Given the description of an element on the screen output the (x, y) to click on. 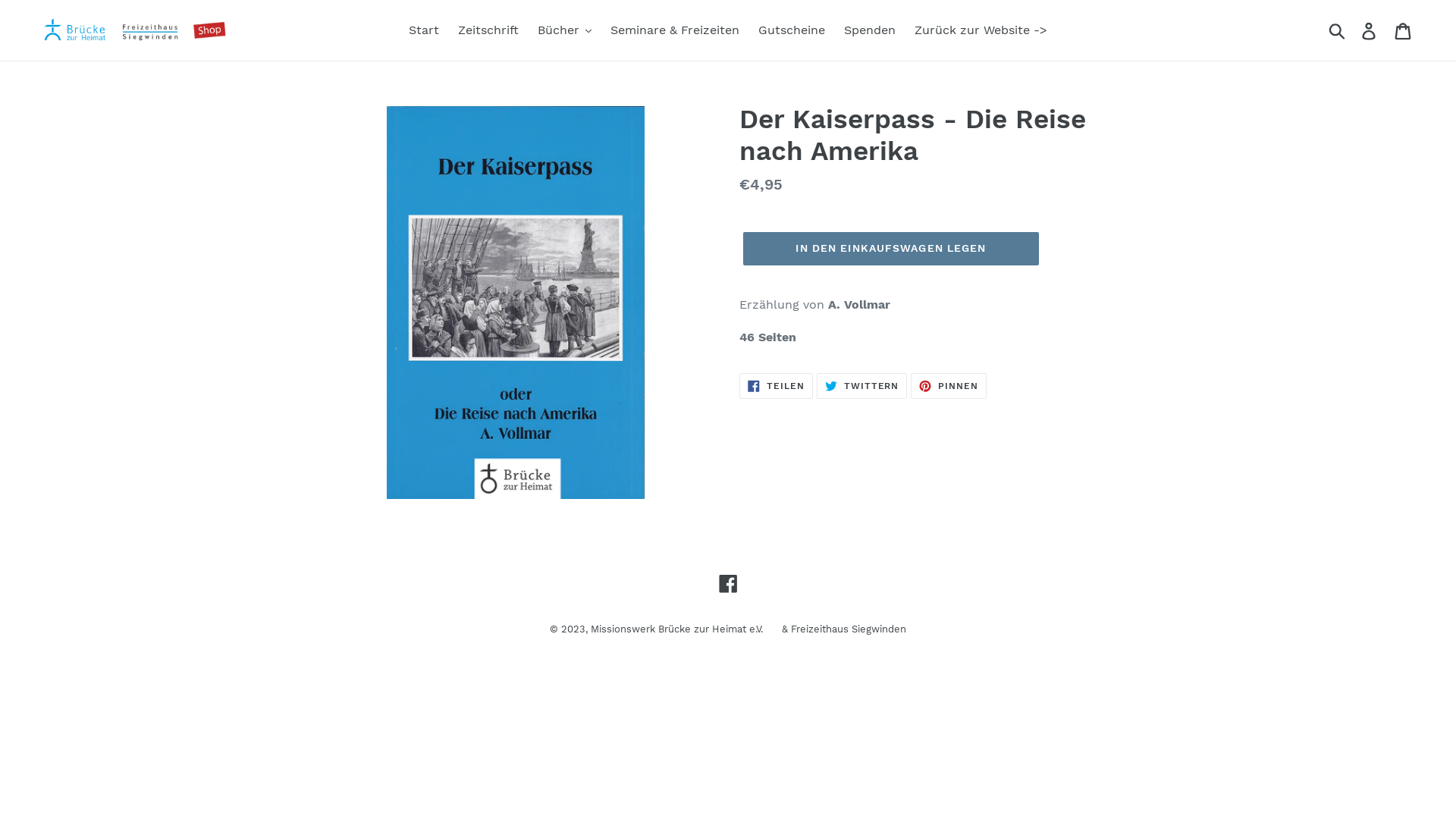
PINNEN
AUF PINTEREST PINNEN Element type: text (948, 385)
Spenden Element type: text (869, 29)
TEILEN
AUF FACEBOOK TEILEN Element type: text (775, 385)
Einkaufswagen Element type: text (1403, 30)
TWITTERN
AUF TWITTER TWITTERN Element type: text (861, 385)
Einloggen Element type: text (1369, 30)
Suchen Element type: text (1337, 30)
Zeitschrift Element type: text (488, 29)
Start Element type: text (423, 29)
Facebook Element type: text (727, 583)
Seminare & Freizeiten Element type: text (674, 29)
IN DEN EINKAUFSWAGEN LEGEN Element type: text (890, 248)
Gutscheine Element type: text (791, 29)
